Given the description of an element on the screen output the (x, y) to click on. 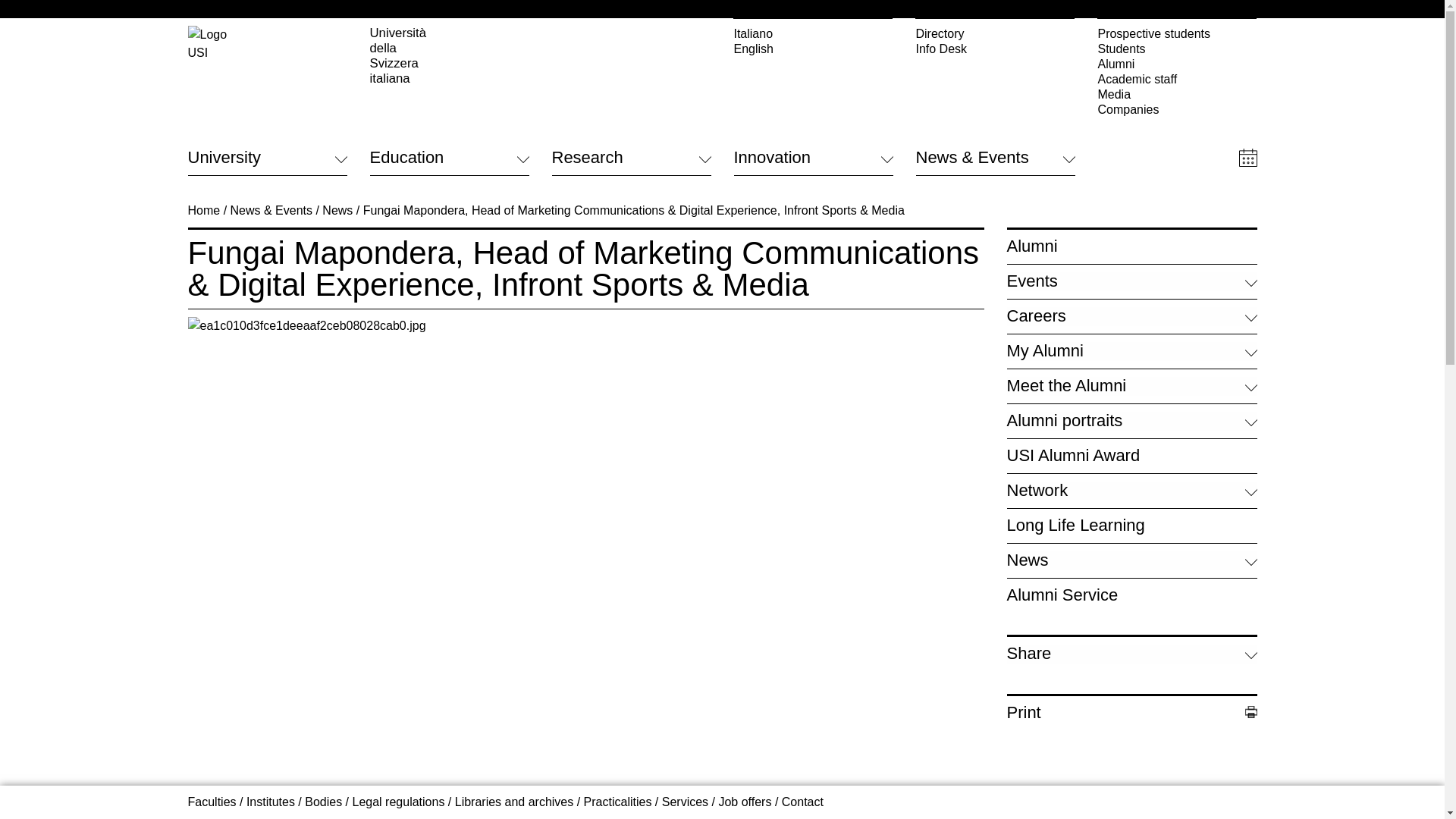
Info Desk (994, 48)
Students (1176, 48)
Academic staff (1176, 79)
Companies (1176, 109)
Italiano (812, 33)
Alumni (1176, 64)
English (812, 48)
Media (1176, 94)
Directory (994, 33)
Prospective students (1176, 33)
